Given the description of an element on the screen output the (x, y) to click on. 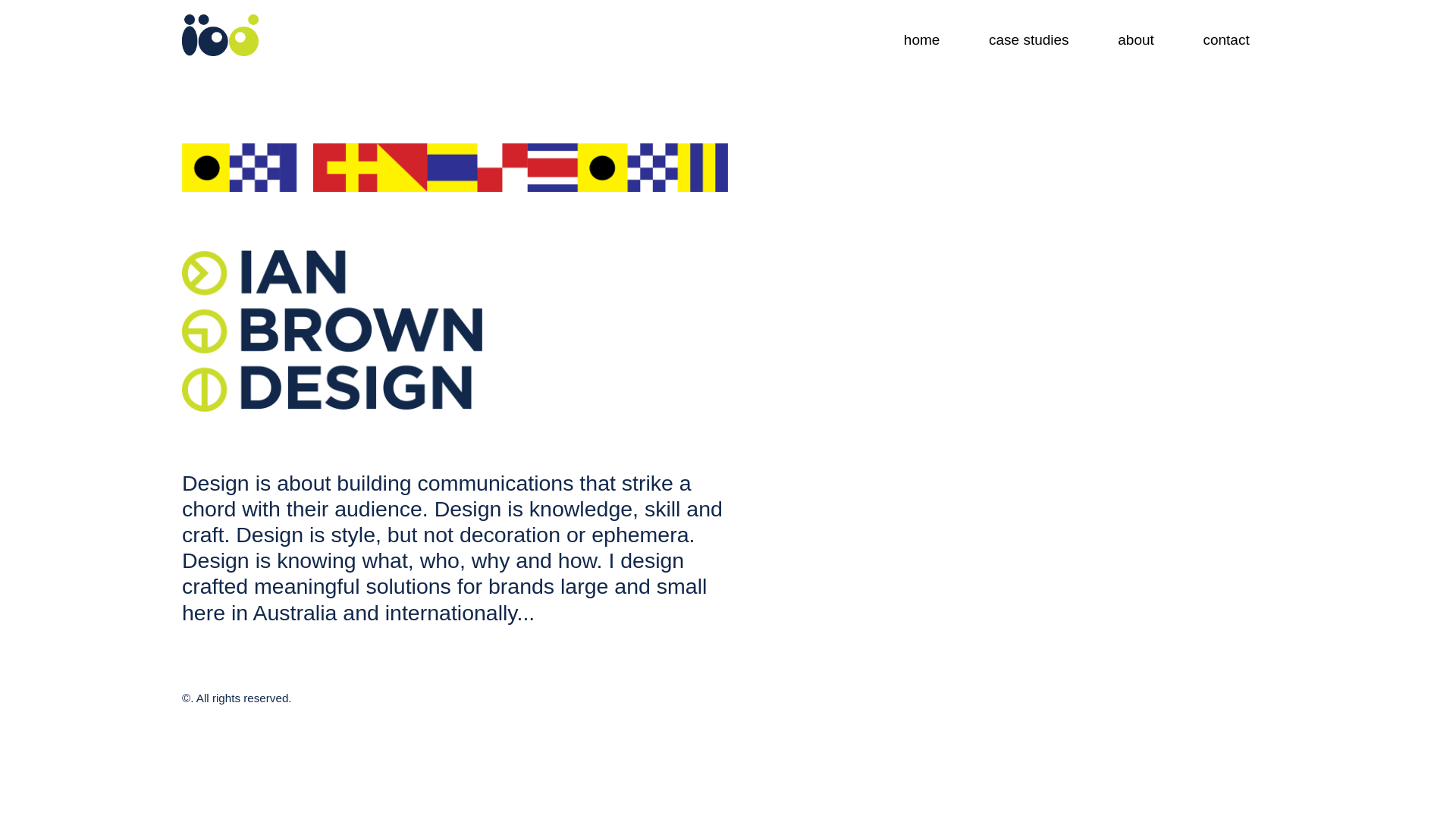
case studies Element type: text (1028, 39)
contact Element type: text (1226, 39)
home Element type: text (921, 39)
about Element type: text (1135, 39)
